Given the description of an element on the screen output the (x, y) to click on. 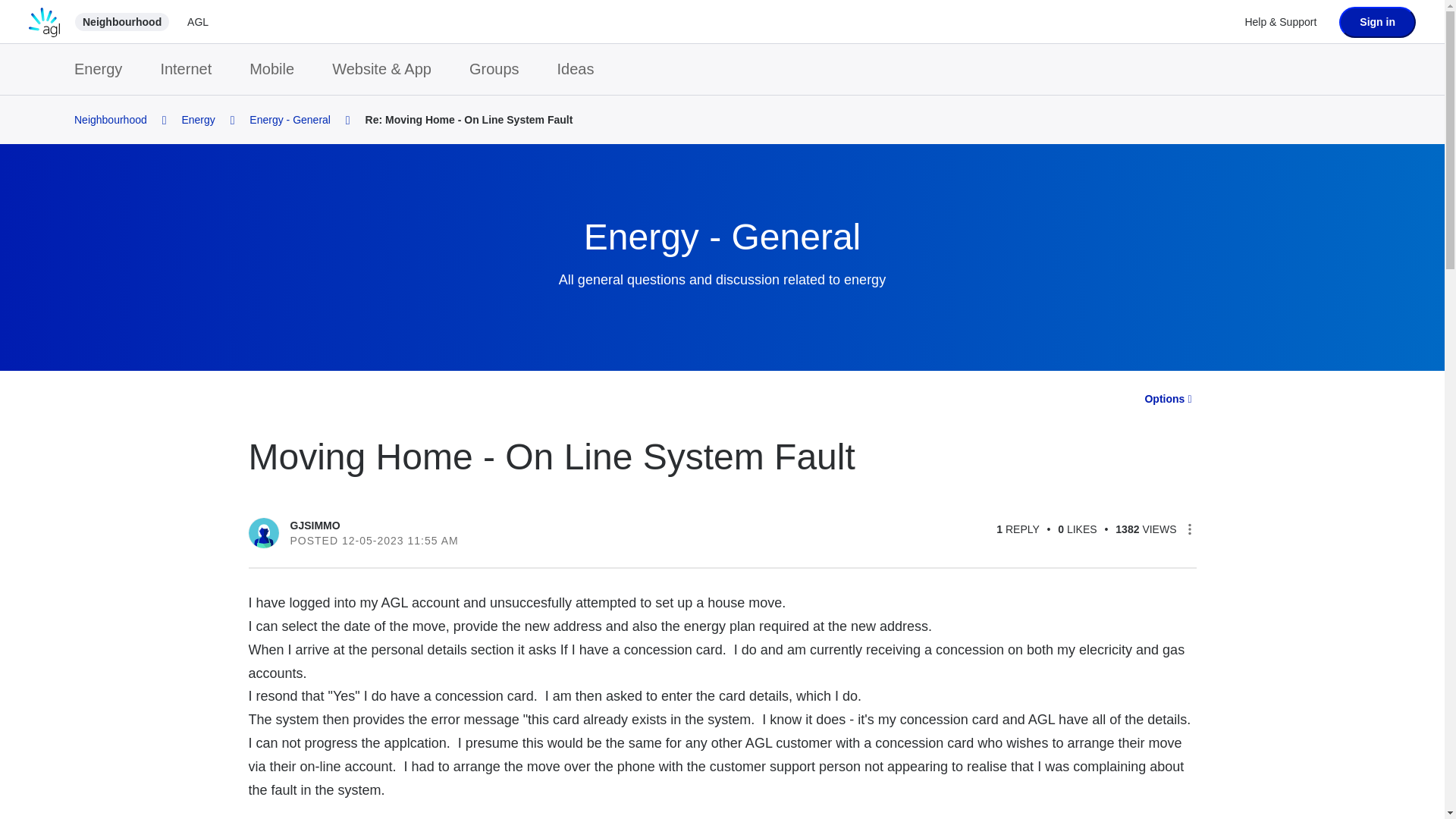
Show option menu (1189, 528)
Internet (193, 69)
AGL (197, 22)
GJSimmo (263, 532)
Neighbourhood (121, 22)
Mobile (278, 69)
Posted on (505, 540)
Sign in (1377, 20)
Groups (501, 69)
Show option menu (1167, 398)
